Given the description of an element on the screen output the (x, y) to click on. 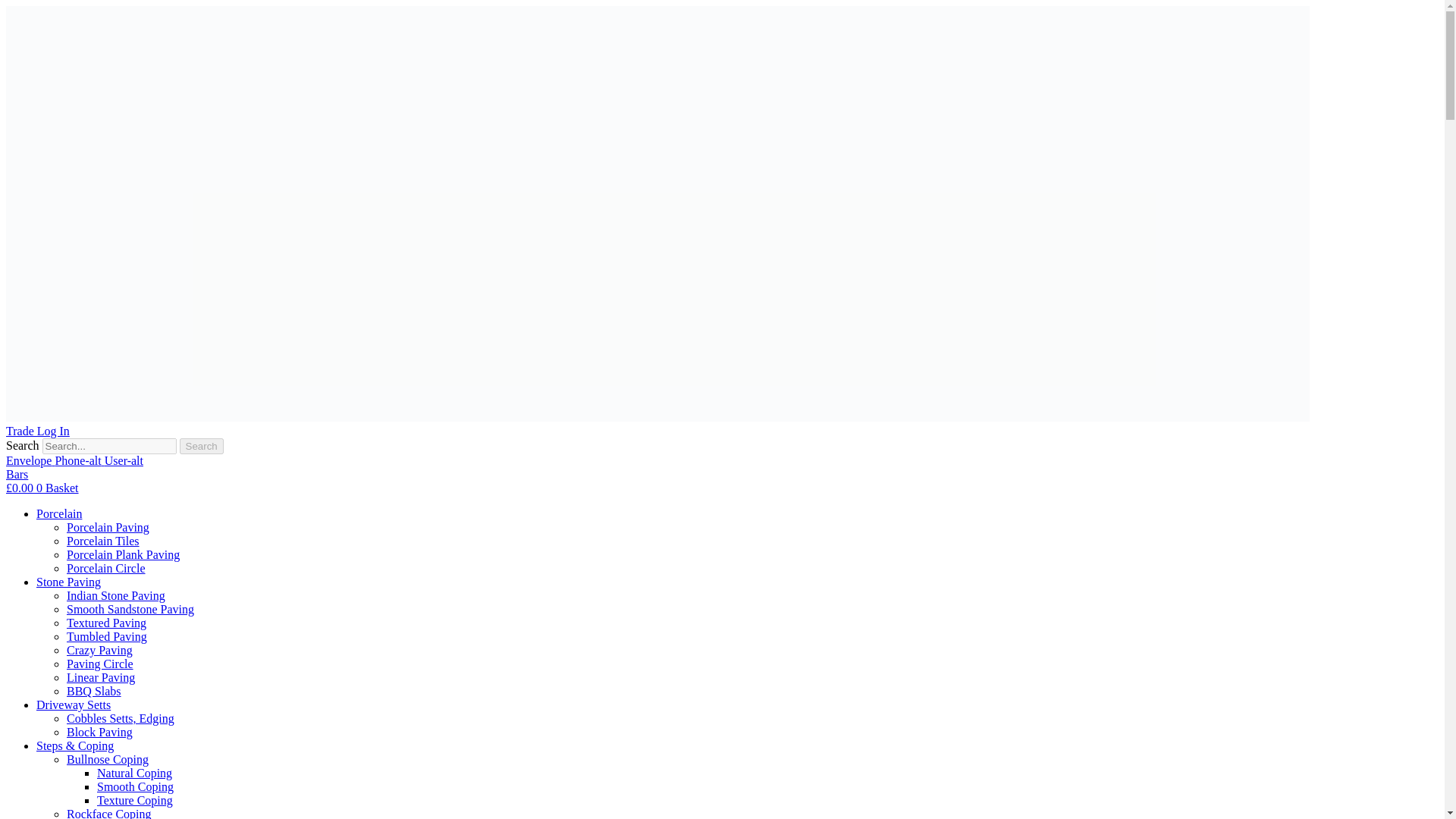
BBQ Slabs (93, 690)
Porcelain Plank Paving (122, 554)
Driveway Setts (73, 704)
Porcelain (58, 513)
Tumbled Paving (106, 635)
Natural Coping (134, 772)
Block Paving (99, 731)
Texture Coping (135, 799)
Indian Stone Paving (115, 594)
Smooth Coping (135, 786)
Rockface Coping (108, 813)
Paving Circle (99, 663)
Stone Paving (68, 581)
User-alt (123, 460)
Search (201, 446)
